Given the description of an element on the screen output the (x, y) to click on. 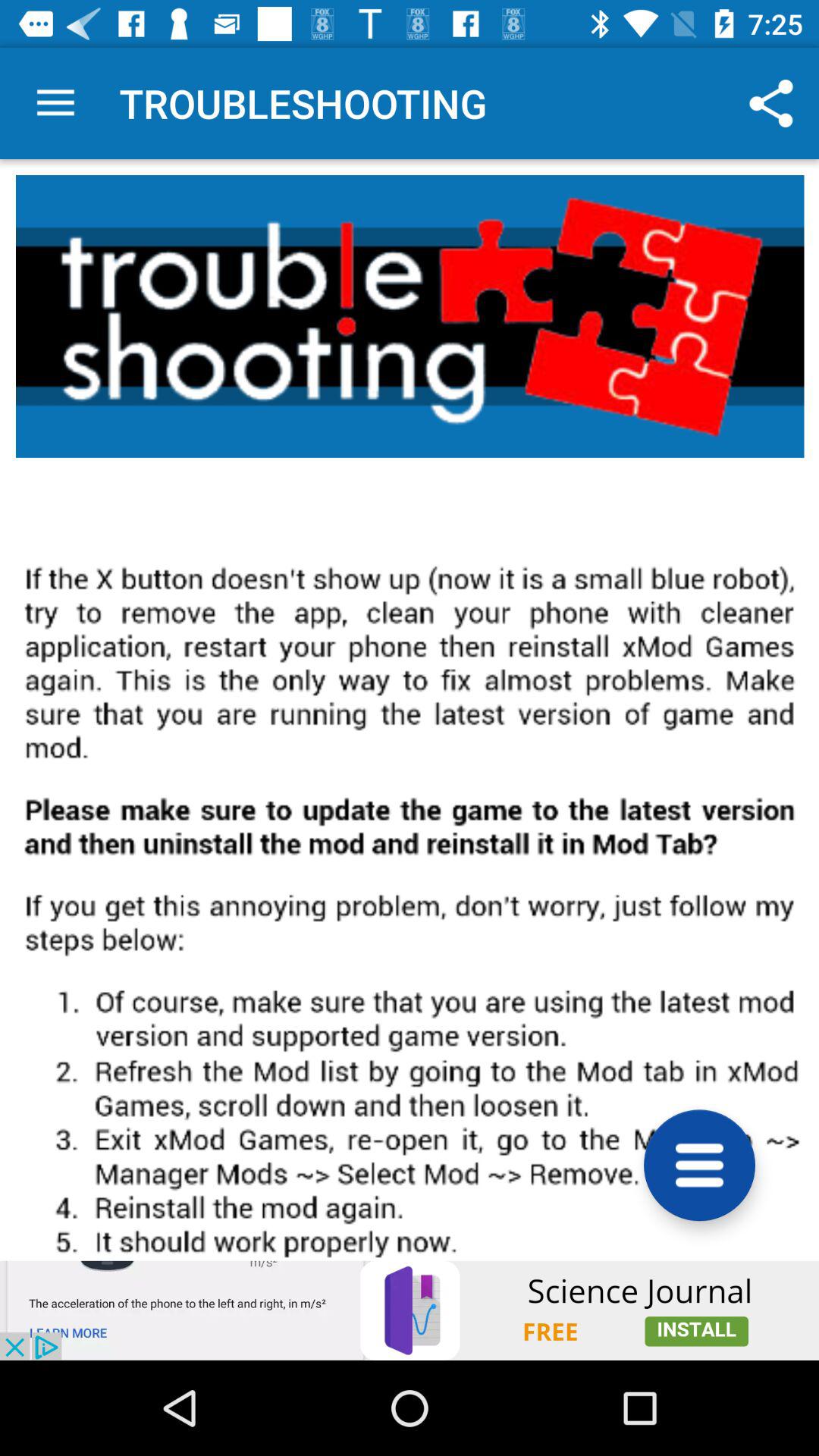
showing the advertisement (409, 1310)
